Given the description of an element on the screen output the (x, y) to click on. 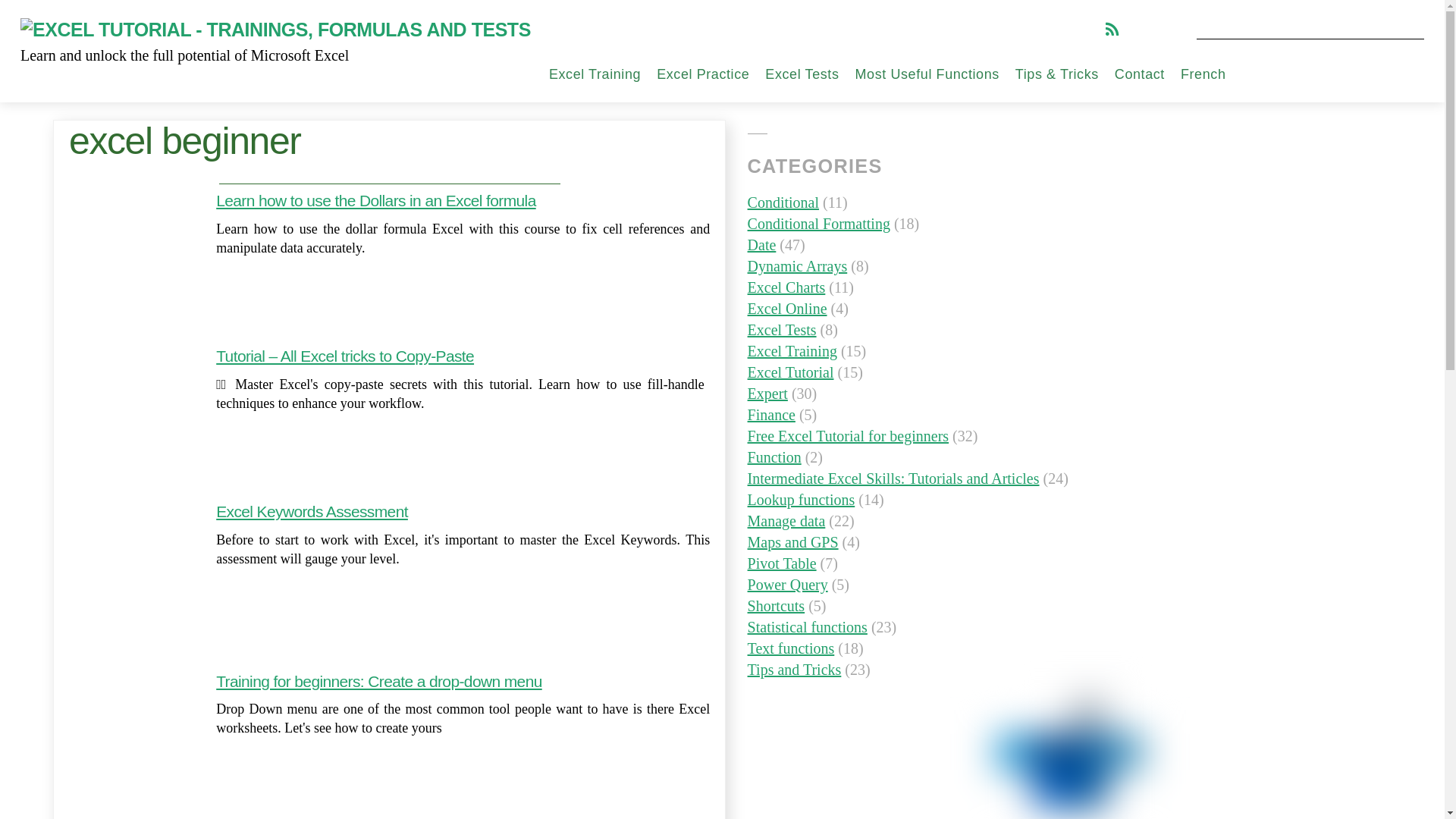
Excel Practice (702, 74)
Conditional Formatting (818, 223)
Excel Training (594, 74)
Microsoft MVP 2024 (1069, 757)
Conditional (783, 202)
Beginner Excel Test (839, 121)
Date (762, 244)
Excel Tutorial - trainings, formulas and tests (275, 29)
exercise picto (132, 730)
Training for beginners: Create a drop-down menu (378, 681)
